Given the description of an element on the screen output the (x, y) to click on. 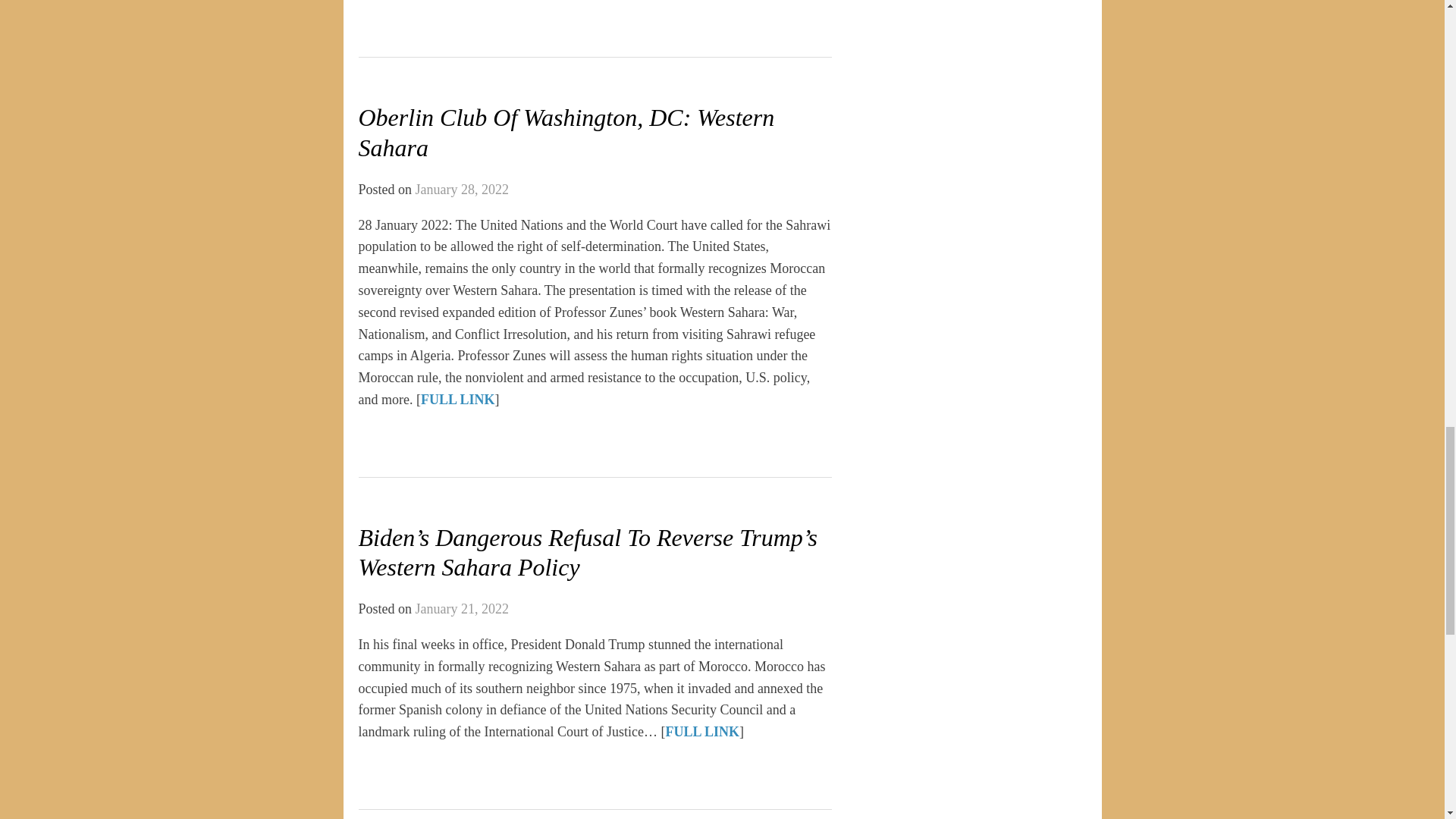
Oberlin Club Of Washington, DC: Western Sahara (566, 132)
January 28, 2022 (461, 189)
FULL LINK (702, 731)
January 21, 2022 (461, 608)
FULL LINK (457, 399)
